Given the description of an element on the screen output the (x, y) to click on. 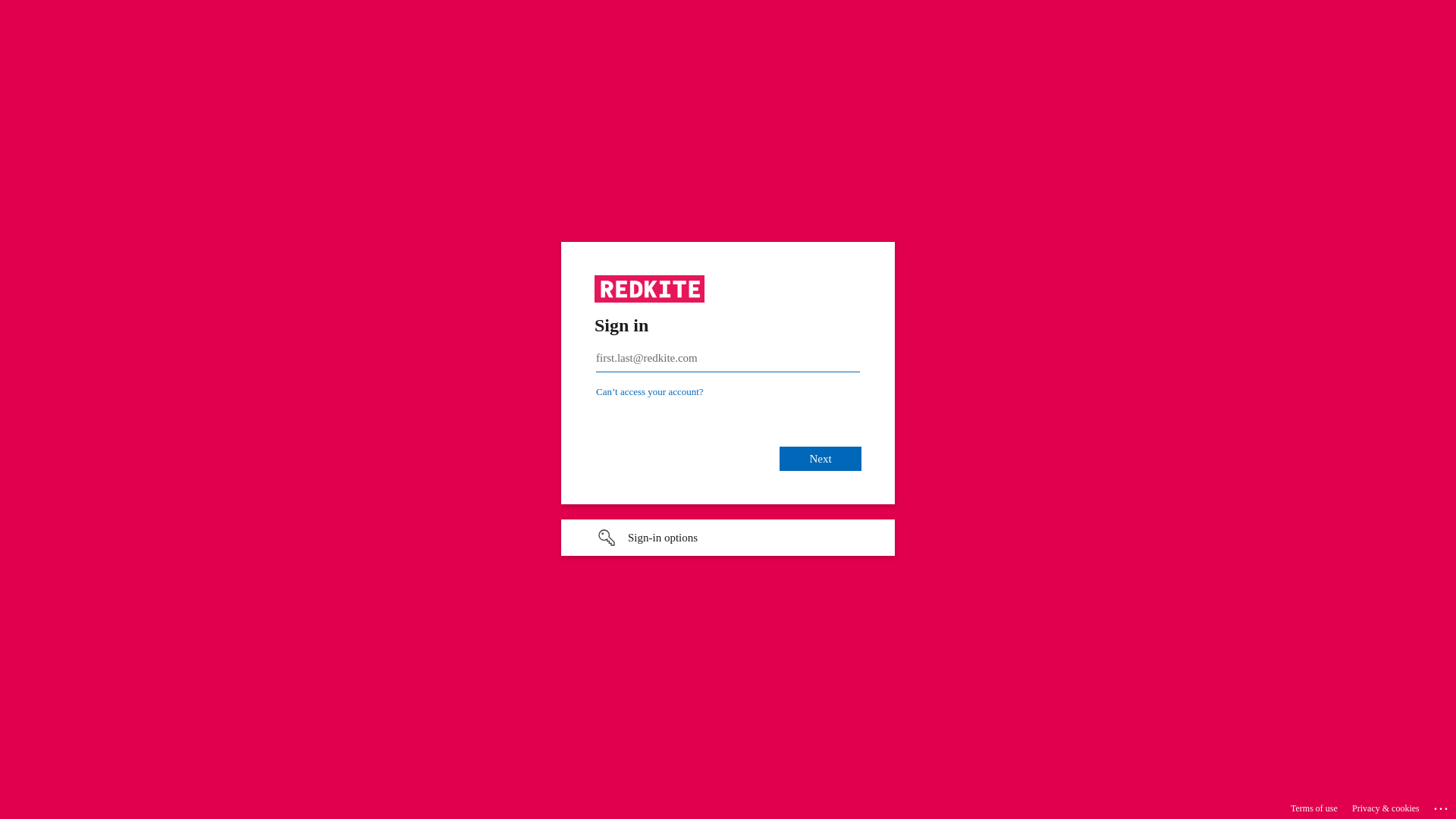
Next Element type: text (820, 458)
... Element type: text (1441, 805)
